Given the description of an element on the screen output the (x, y) to click on. 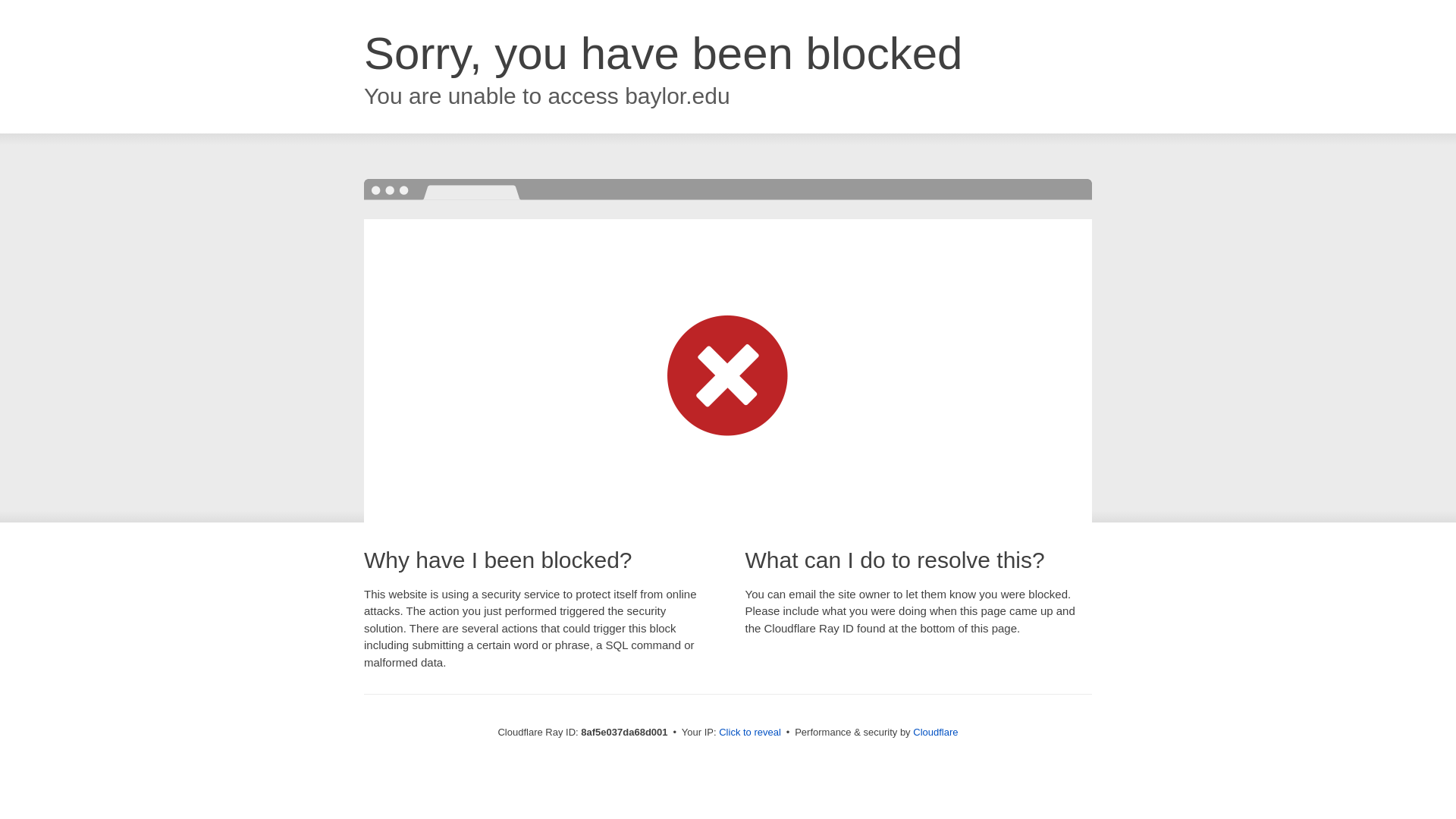
Cloudflare (935, 731)
Click to reveal (749, 732)
